Given the description of an element on the screen output the (x, y) to click on. 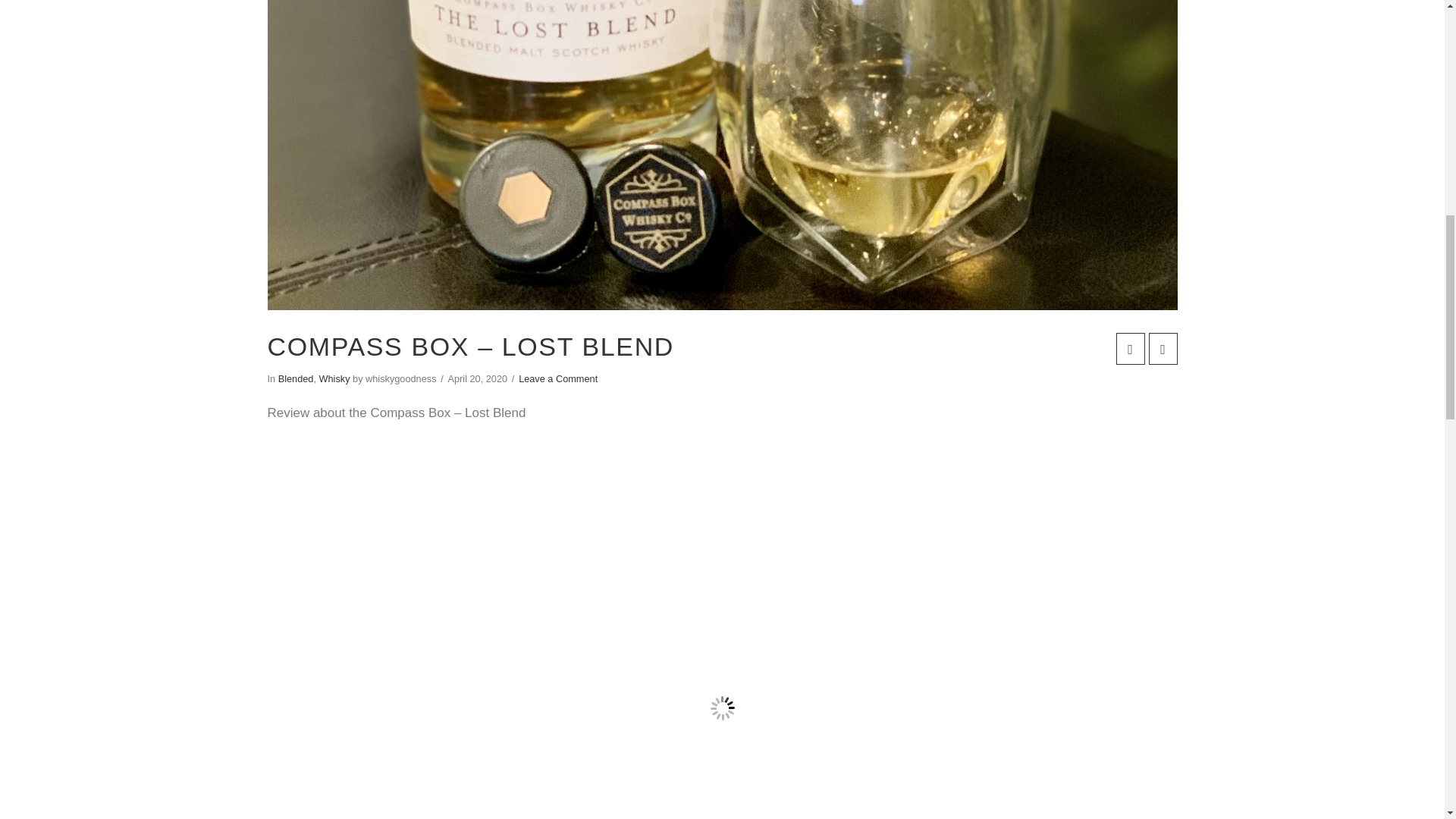
Blended (296, 378)
Leave a Comment (557, 378)
Whisky (333, 378)
